Given the description of an element on the screen output the (x, y) to click on. 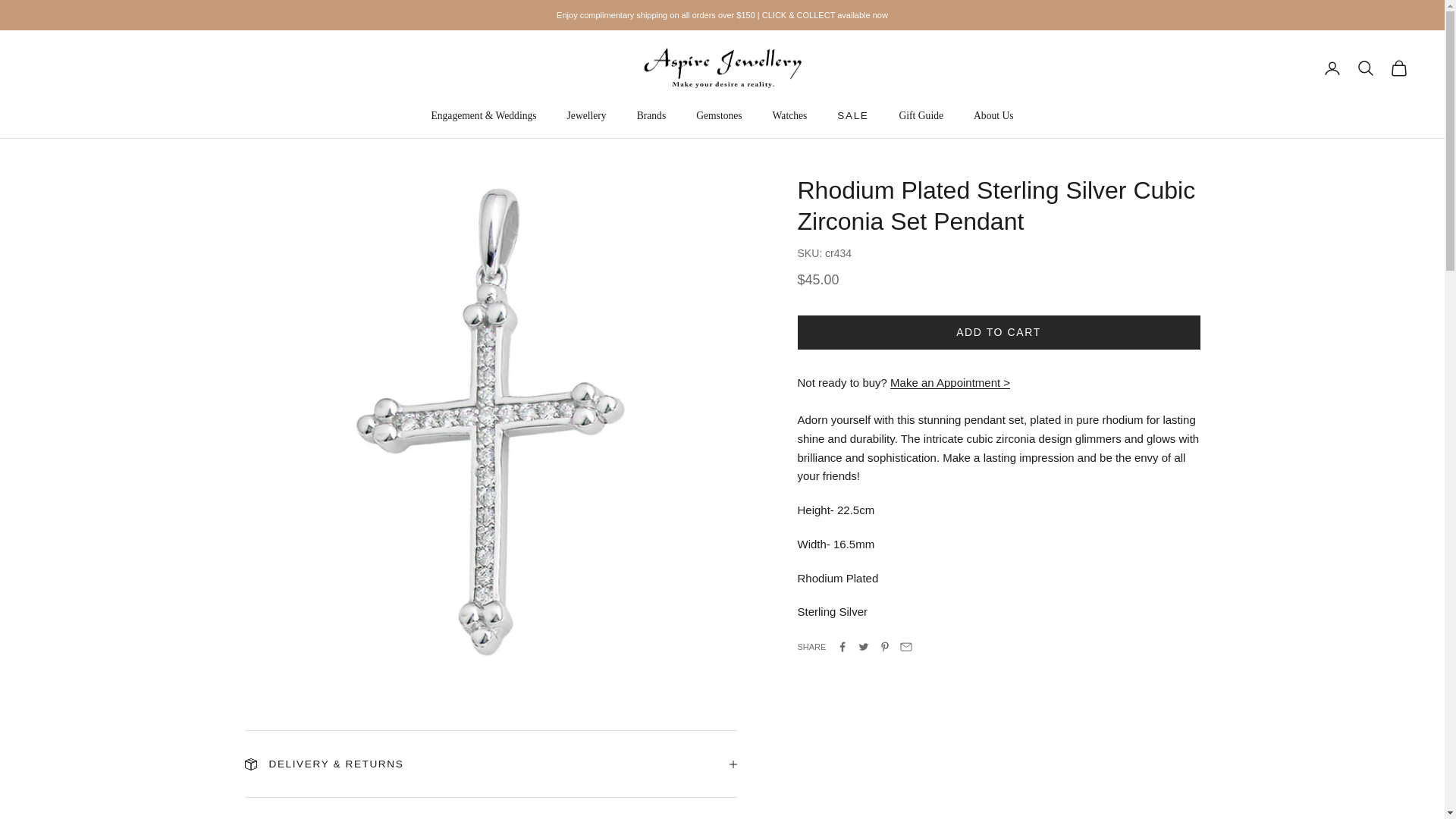
Make an Appointment (949, 382)
Aspire Jewellery Swan Hill (721, 68)
